Given the description of an element on the screen output the (x, y) to click on. 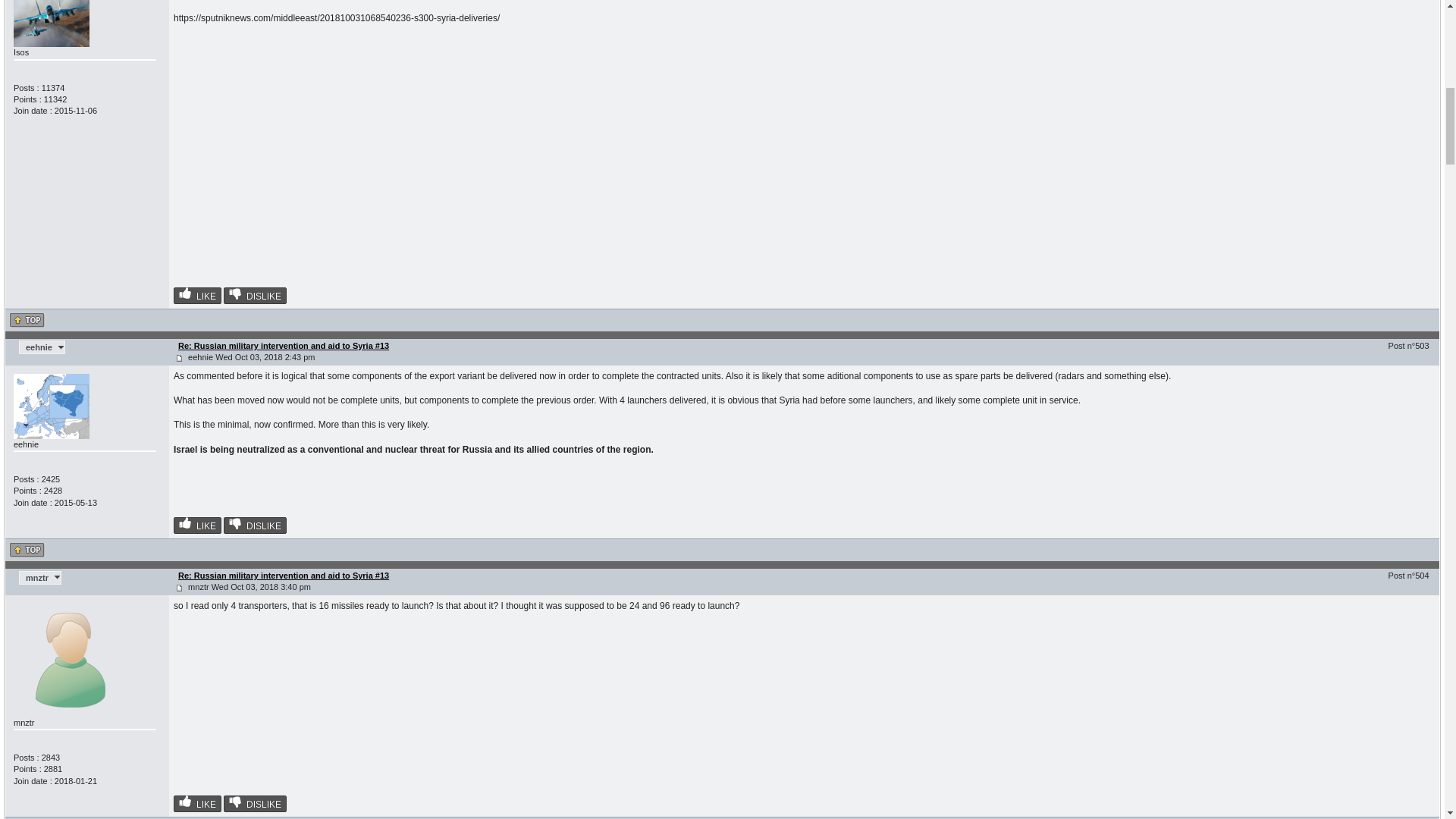
DISLIKE (255, 803)
Post (178, 587)
DISLIKE (255, 295)
eehnie (41, 346)
LIKE (197, 524)
mnztr (39, 577)
LIKE (197, 295)
LIKE (197, 803)
DISLIKE (255, 524)
Post (178, 357)
